Given the description of an element on the screen output the (x, y) to click on. 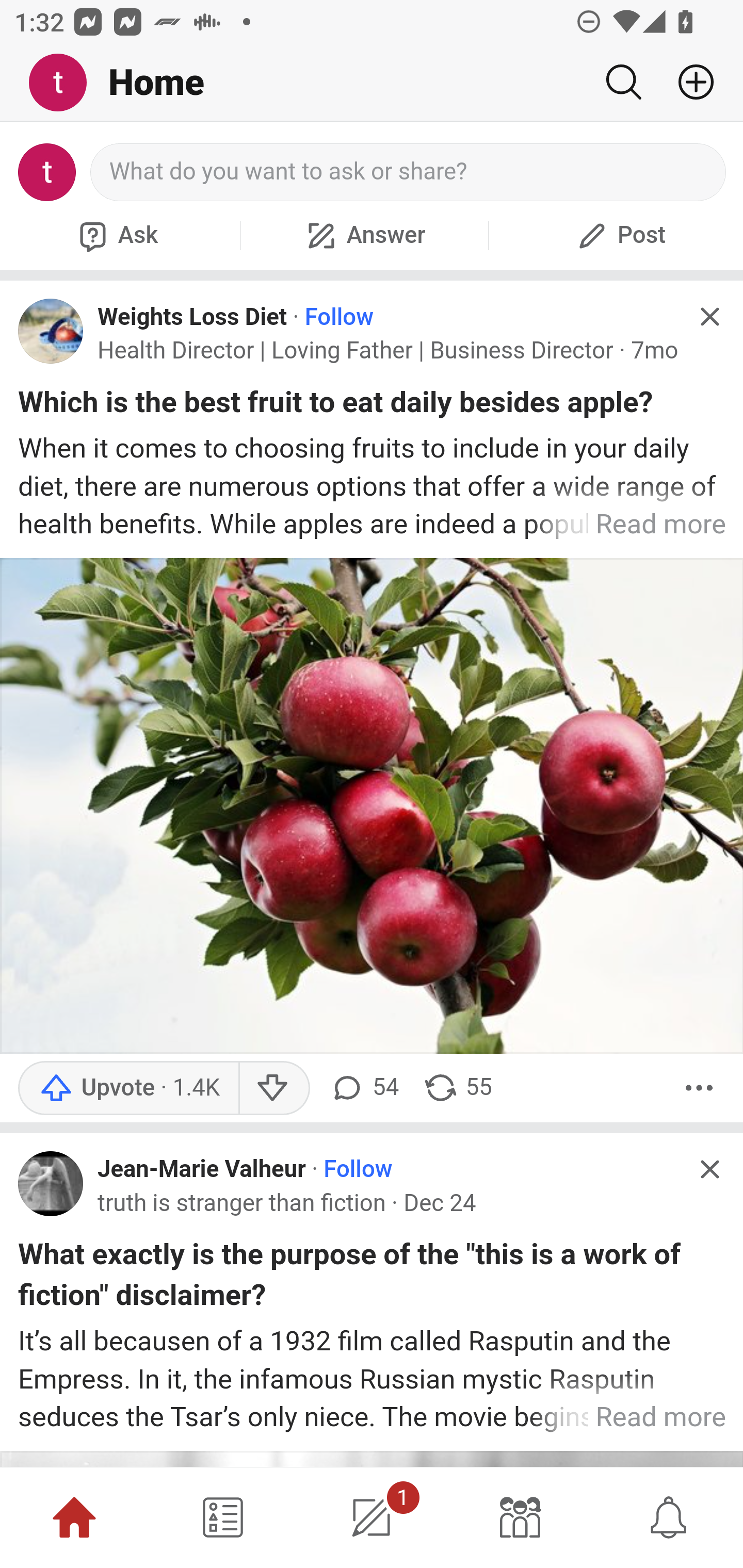
Me Home Search Add (371, 82)
Me (64, 83)
Search (623, 82)
Add (688, 82)
What do you want to ask or share? (408, 172)
Ask (116, 234)
Answer (364, 234)
Post (618, 234)
Hide (709, 316)
Profile photo for Weights Loss Diet (50, 330)
Weights Loss Diet (193, 316)
Follow (338, 316)
7mo 7 mo (654, 350)
Upvote (127, 1087)
Downvote (273, 1087)
54 comments (363, 1087)
55 shares (457, 1087)
More (699, 1087)
Hide (709, 1168)
Profile photo for Jean-Marie Valheur (50, 1183)
Jean-Marie Valheur (201, 1169)
Follow (358, 1169)
Dec 24 (439, 1202)
1 (371, 1517)
